Given the description of an element on the screen output the (x, y) to click on. 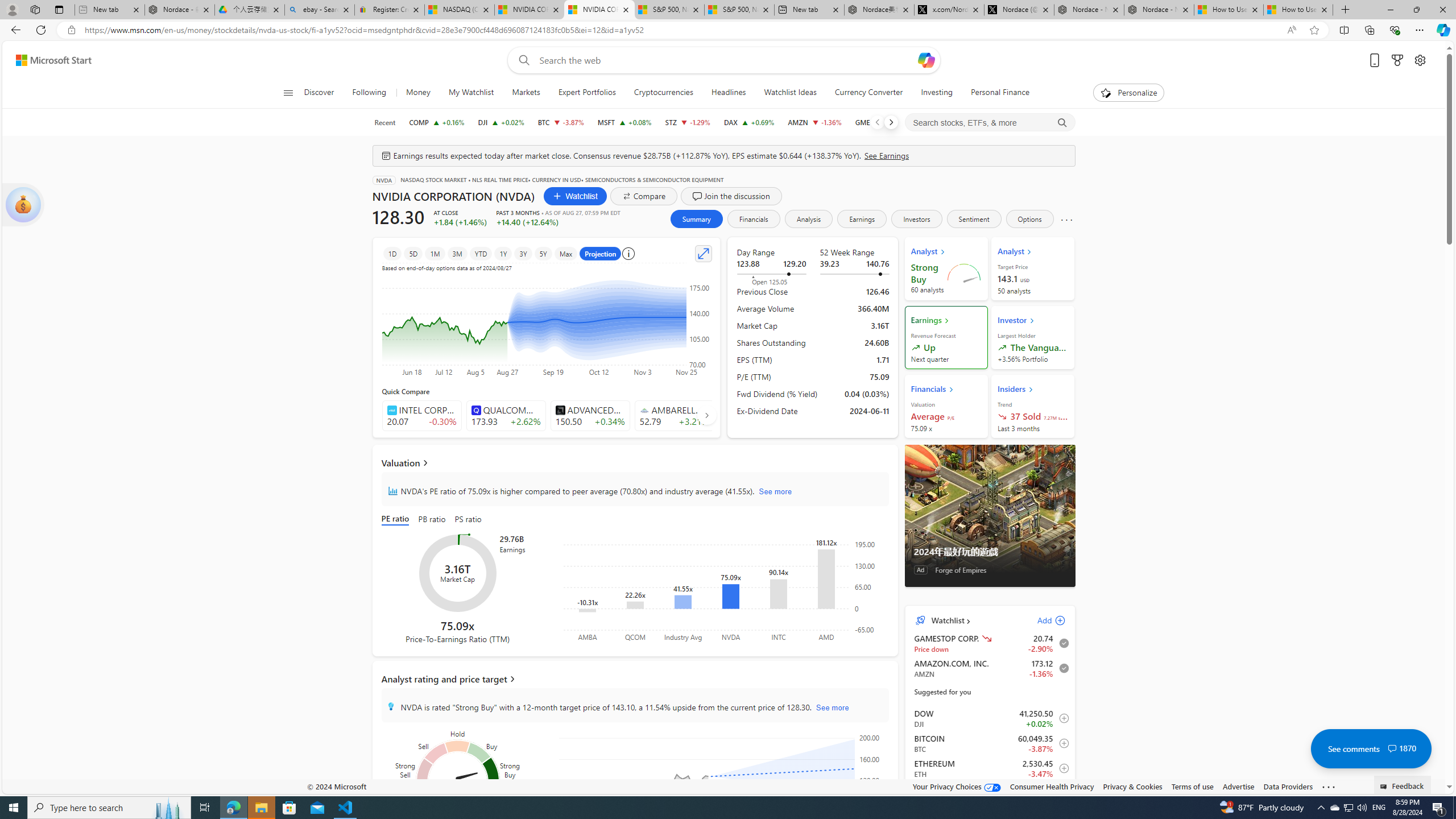
Max (565, 253)
Advertise (1238, 786)
3Y (522, 253)
Options (1030, 218)
Next (890, 122)
Web search (520, 60)
1D (391, 253)
Data Providers (1288, 785)
Skip to footer (46, 59)
Nordace (@NordaceOfficial) / X (1018, 9)
